Given the description of an element on the screen output the (x, y) to click on. 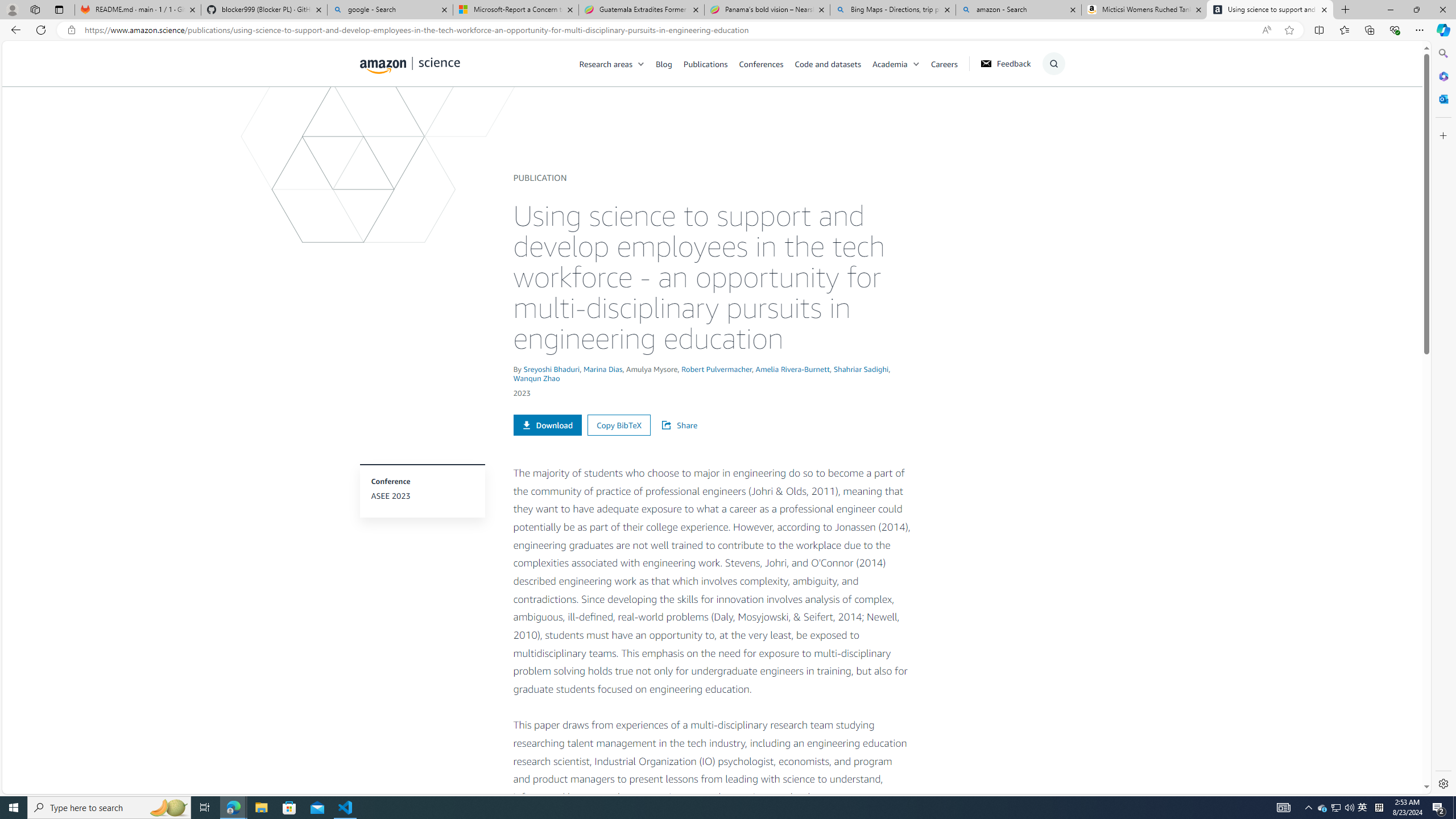
Careers (944, 63)
Amelia Rivera-Burnett (792, 368)
amazon-science-logo.svg (409, 65)
Conferences (760, 63)
Open Sub Navigation (916, 63)
Marina Dias (602, 368)
ASEE 2023 (422, 495)
Academia (901, 63)
